Given the description of an element on the screen output the (x, y) to click on. 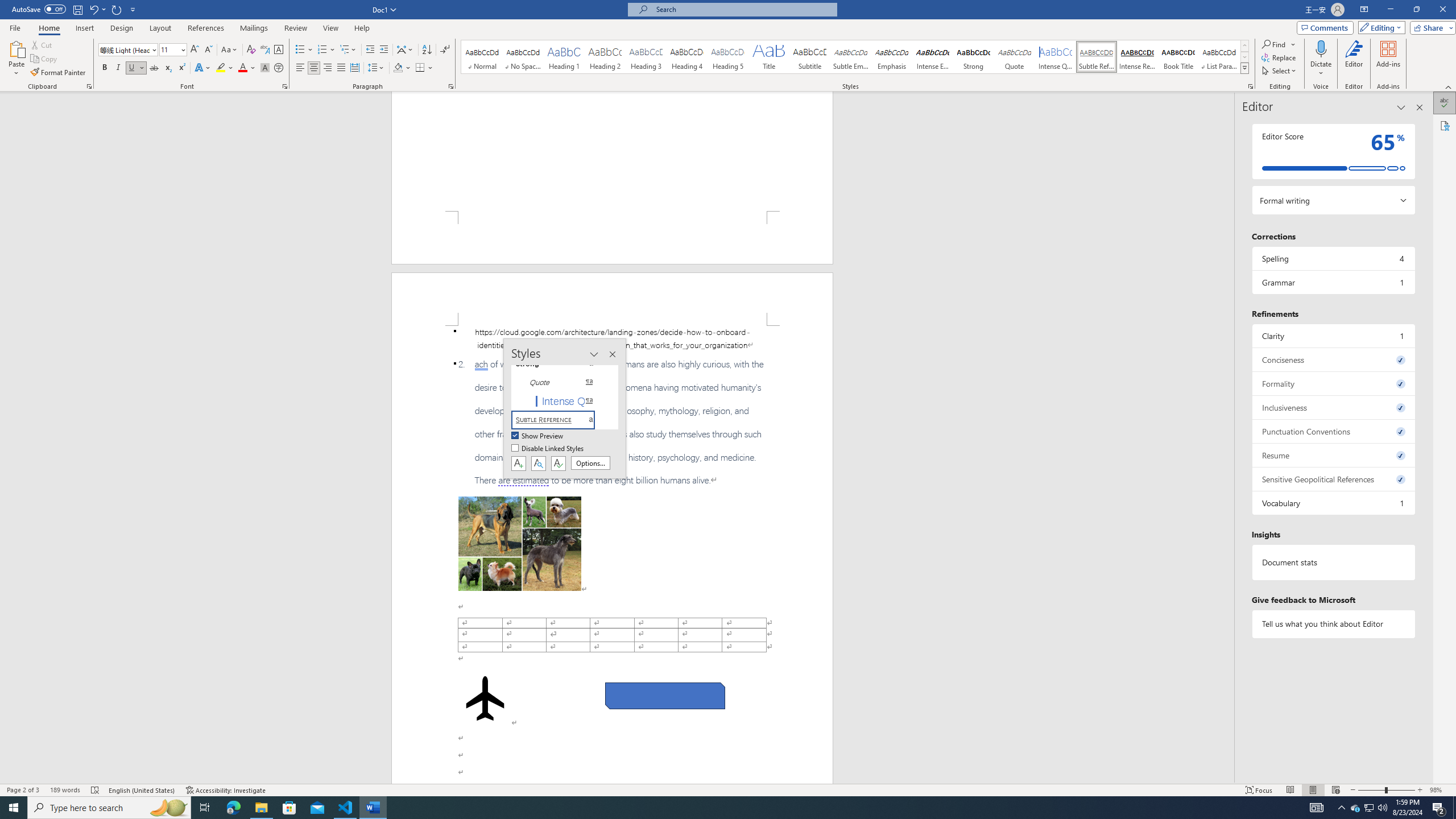
Line and Paragraph Spacing (376, 67)
AutomationID: QuickStylesGallery (855, 56)
Formality, 0 issues. Press space or enter to review items. (1333, 383)
Spelling and Grammar Check Errors (94, 790)
Disable Linked Styles (548, 448)
Zoom In (1420, 790)
Design (122, 28)
Save (77, 9)
Styles (1244, 67)
Clear Formatting (250, 49)
Focus  (1258, 790)
Quick Access Toolbar (74, 9)
